Given the description of an element on the screen output the (x, y) to click on. 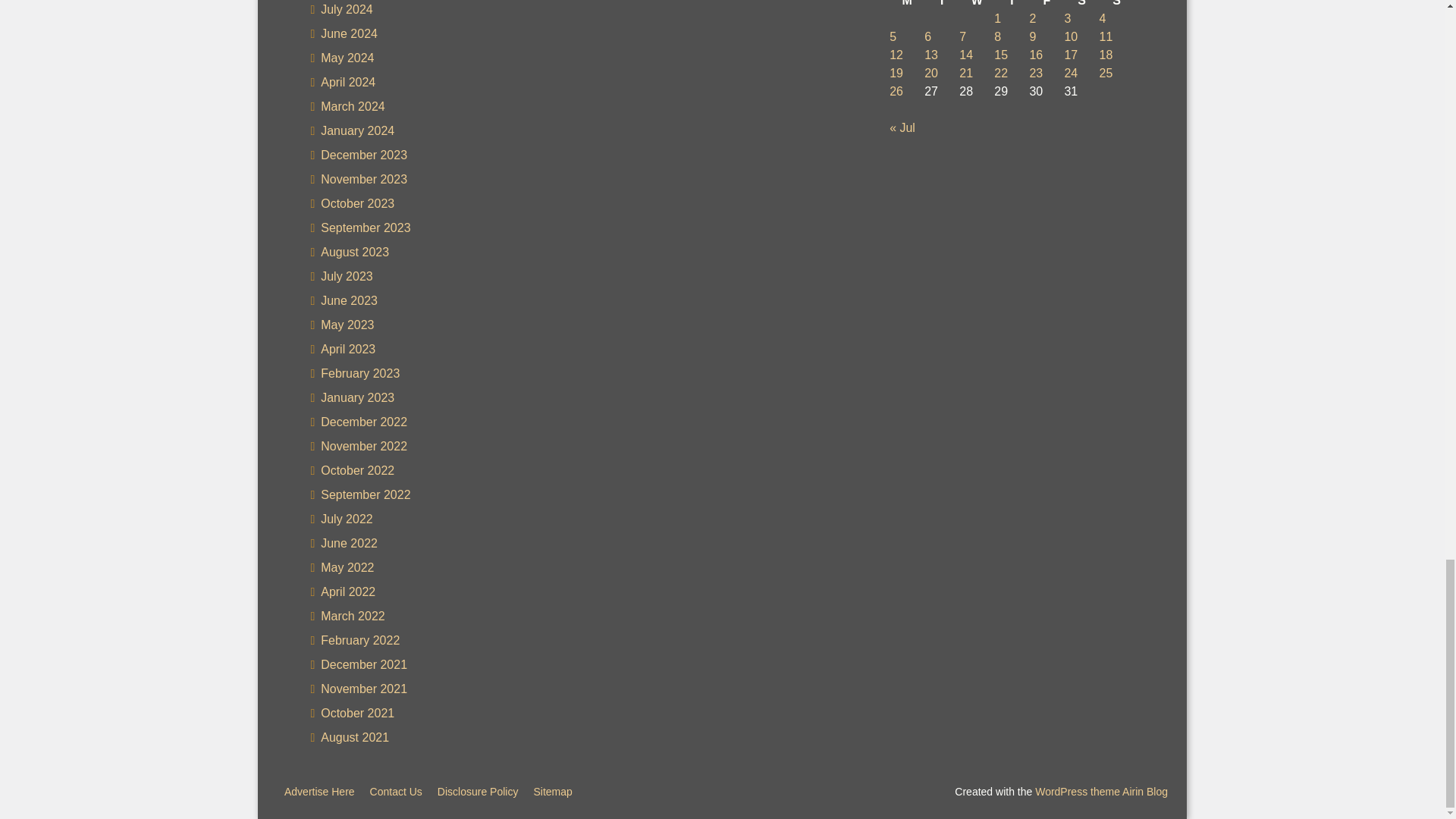
Monday (906, 4)
Thursday (1011, 4)
Tuesday (941, 4)
Wednesday (976, 4)
